Given the description of an element on the screen output the (x, y) to click on. 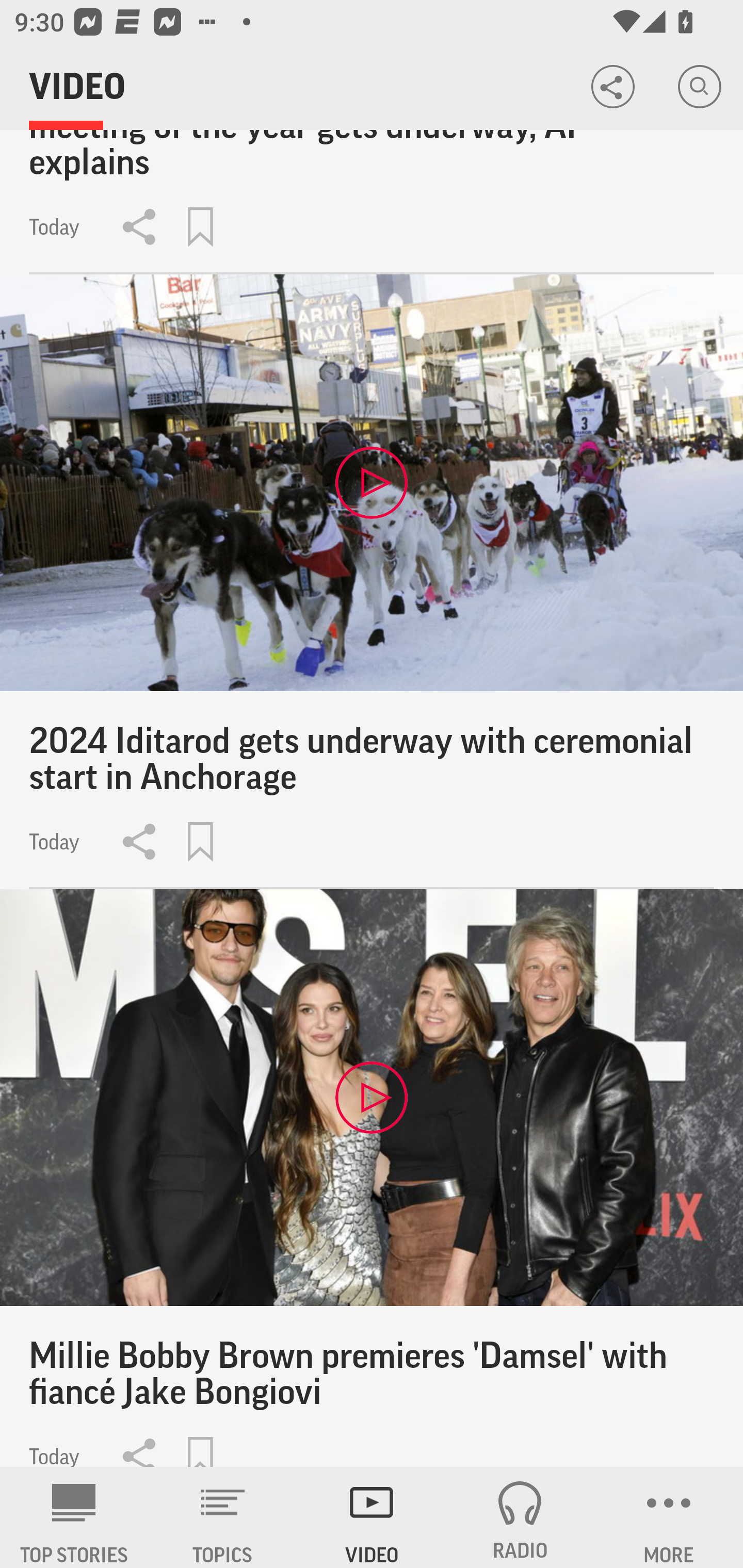
AP News TOP STORIES (74, 1517)
TOPICS (222, 1517)
VIDEO (371, 1517)
RADIO (519, 1517)
MORE (668, 1517)
